Given the description of an element on the screen output the (x, y) to click on. 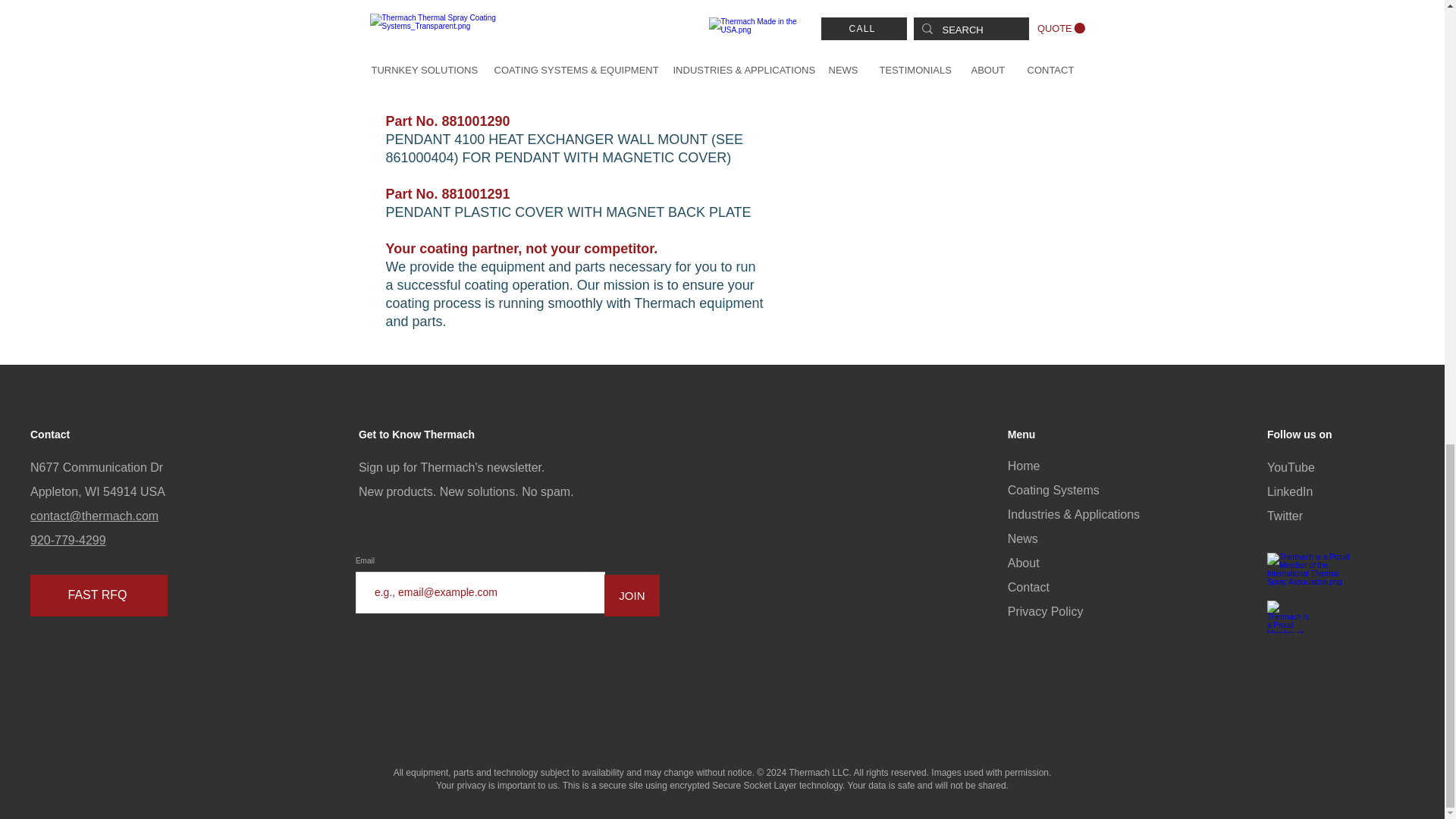
FAST RFQ (98, 595)
JOIN (631, 595)
920-779-4299 (68, 540)
